Given the description of an element on the screen output the (x, y) to click on. 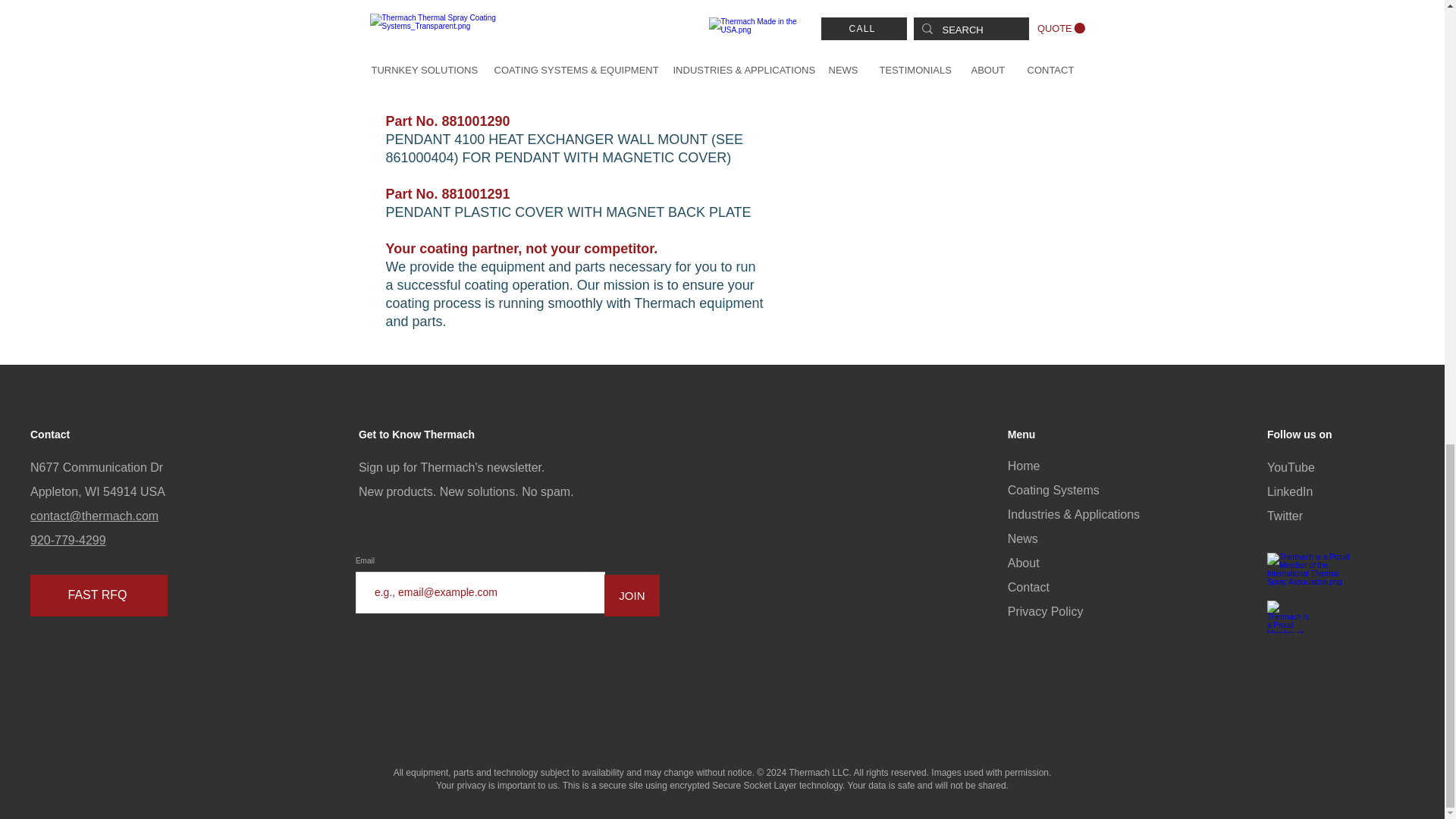
FAST RFQ (98, 595)
JOIN (631, 595)
920-779-4299 (68, 540)
